Given the description of an element on the screen output the (x, y) to click on. 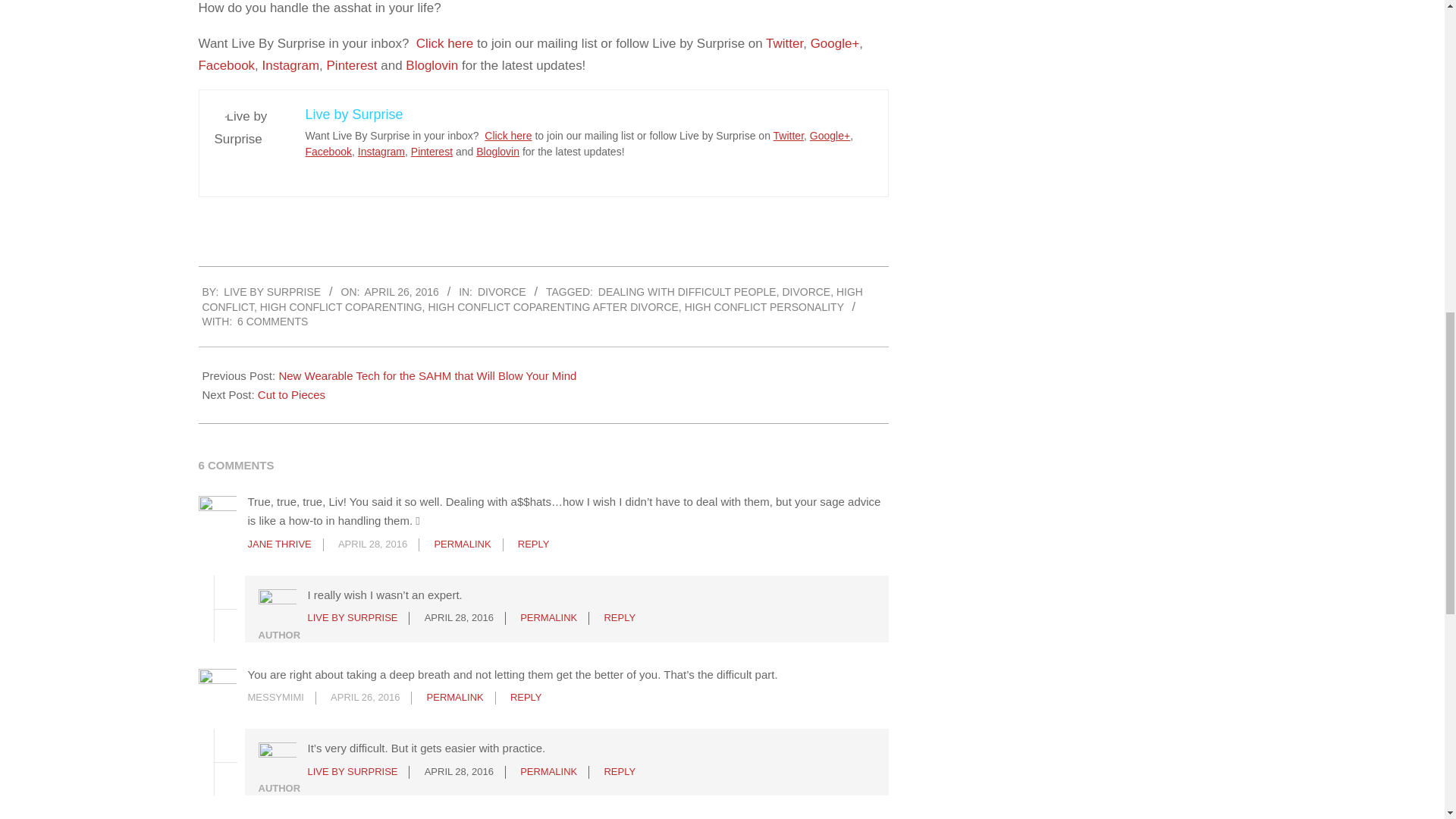
Twitter (784, 43)
Click here (445, 43)
Thursday, April 28, 2016, 6:12 pm (459, 771)
Tuesday, April 26, 2016, 9:29 pm (364, 696)
Thursday, April 28, 2016, 7:21 pm (459, 617)
Thursday, April 28, 2016, 7:04 pm (372, 543)
Posts by Live by Surprise (272, 291)
Tuesday, April 26, 2016, 3:15 pm (402, 291)
